Given the description of an element on the screen output the (x, y) to click on. 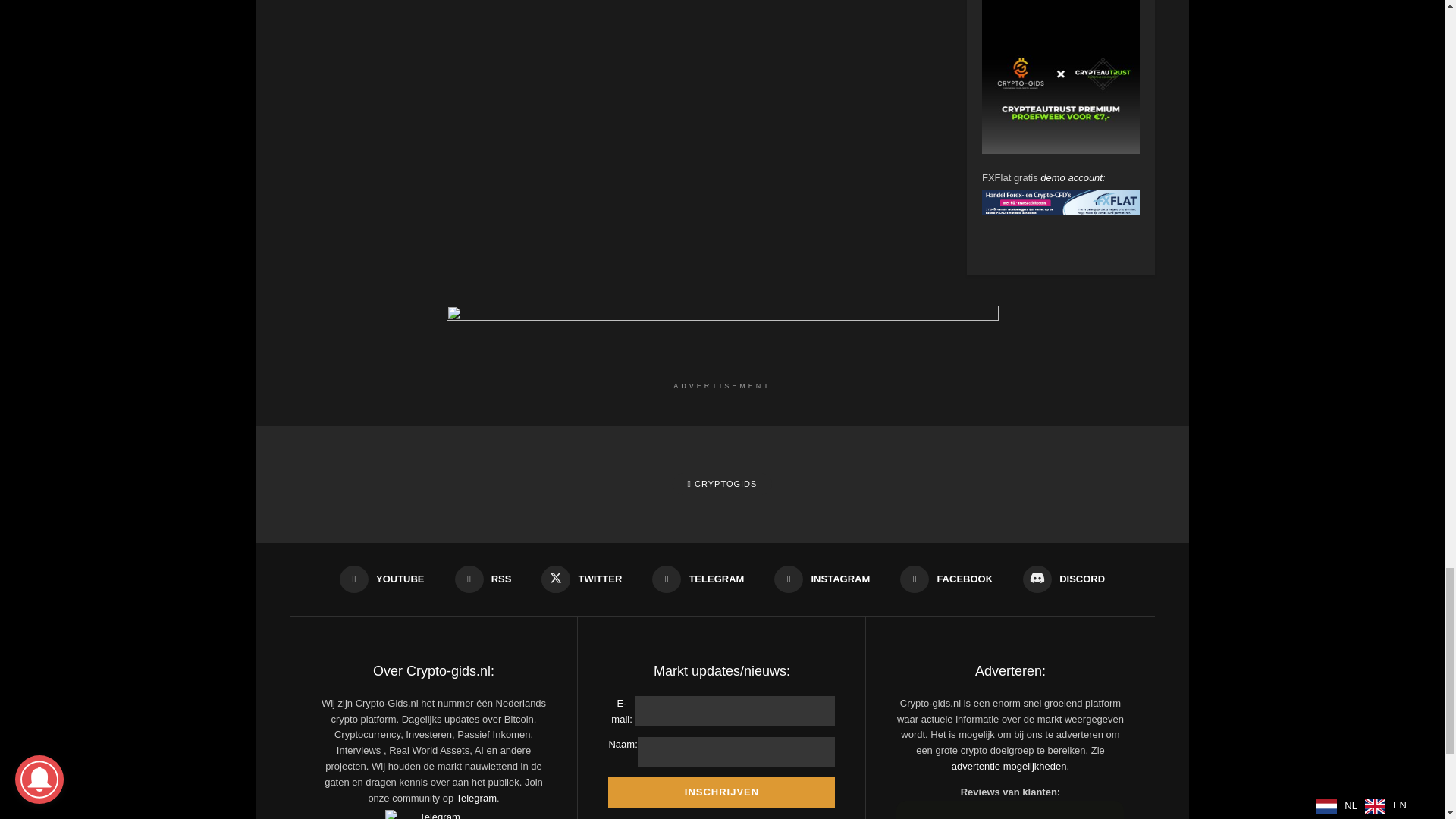
Inschrijven (721, 792)
